Given the description of an element on the screen output the (x, y) to click on. 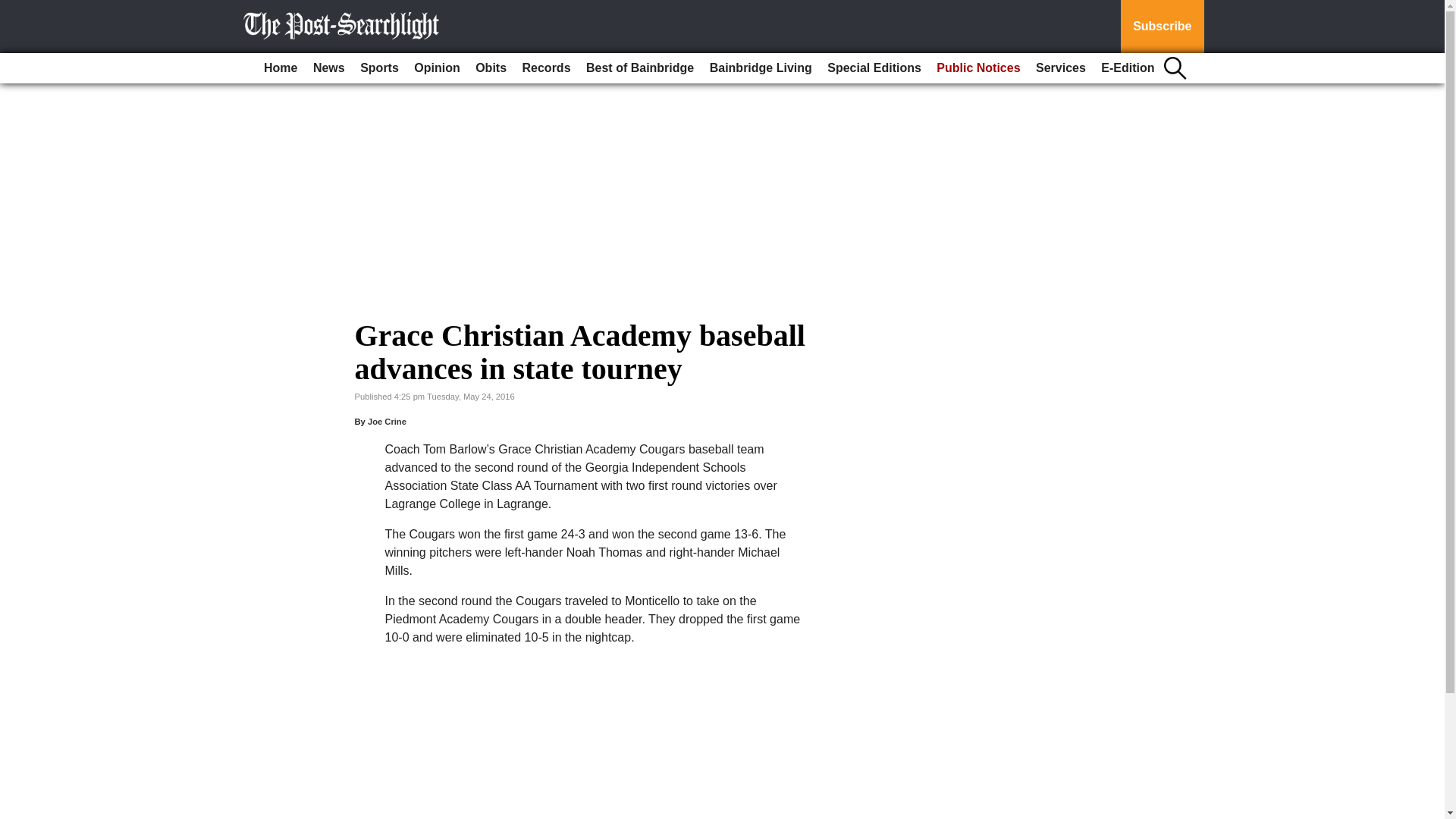
Joe Crine (387, 420)
Public Notices (978, 68)
Opinion (436, 68)
Sports (378, 68)
Home (279, 68)
Best of Bainbridge (639, 68)
Bainbridge Living (760, 68)
E-Edition (1127, 68)
Go (13, 9)
Subscribe (1162, 26)
News (328, 68)
Special Editions (874, 68)
Services (1060, 68)
Obits (490, 68)
Records (546, 68)
